Given the description of an element on the screen output the (x, y) to click on. 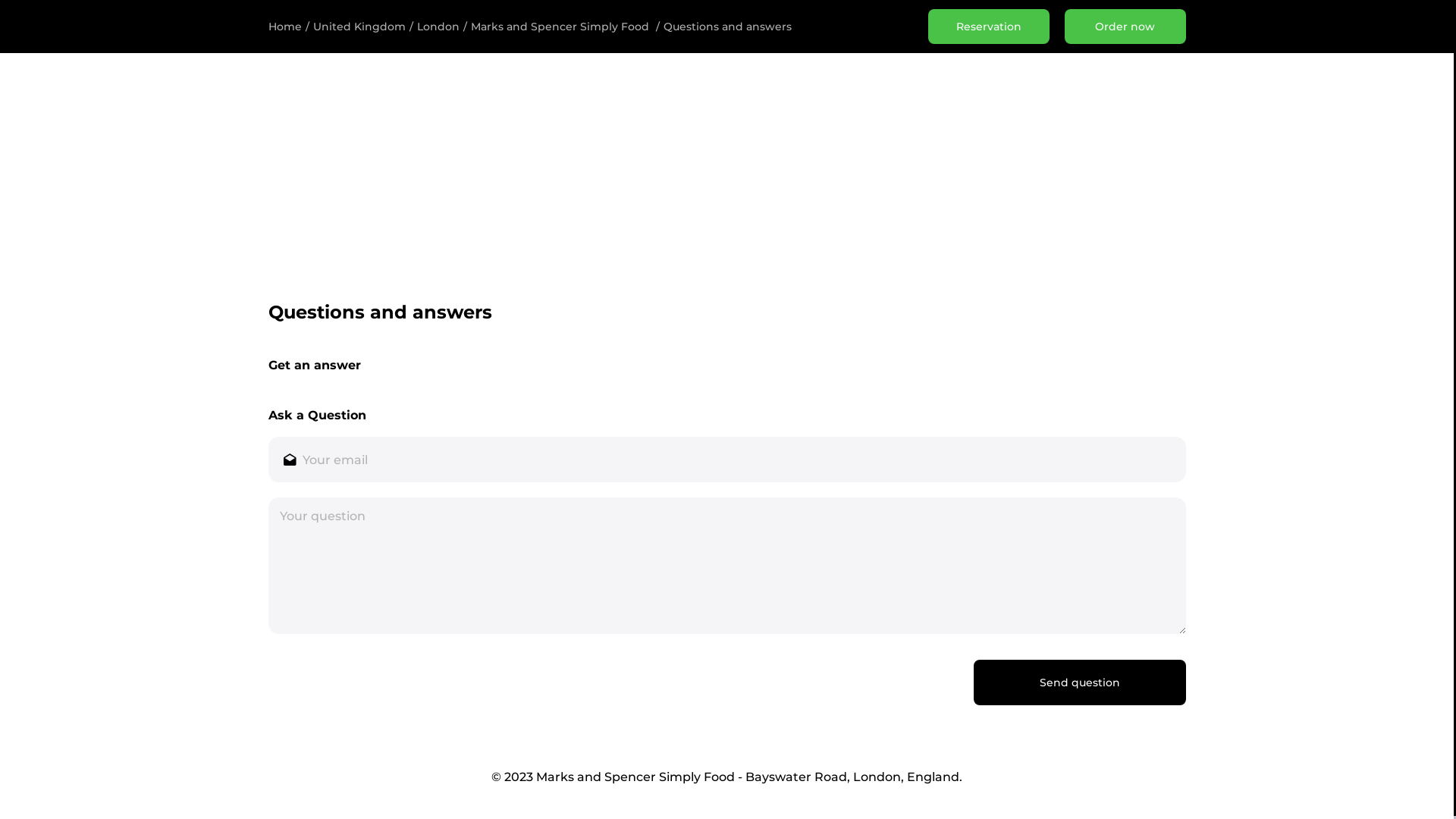
United Kingdom Element type: text (358, 26)
Order now Element type: text (1125, 26)
Marks and Spencer Simply Food Element type: text (559, 26)
Home Element type: text (284, 26)
Advertisement Element type: hover (723, 178)
Send question Element type: text (1079, 682)
London Element type: text (438, 26)
Reservation Element type: text (988, 26)
